Given the description of an element on the screen output the (x, y) to click on. 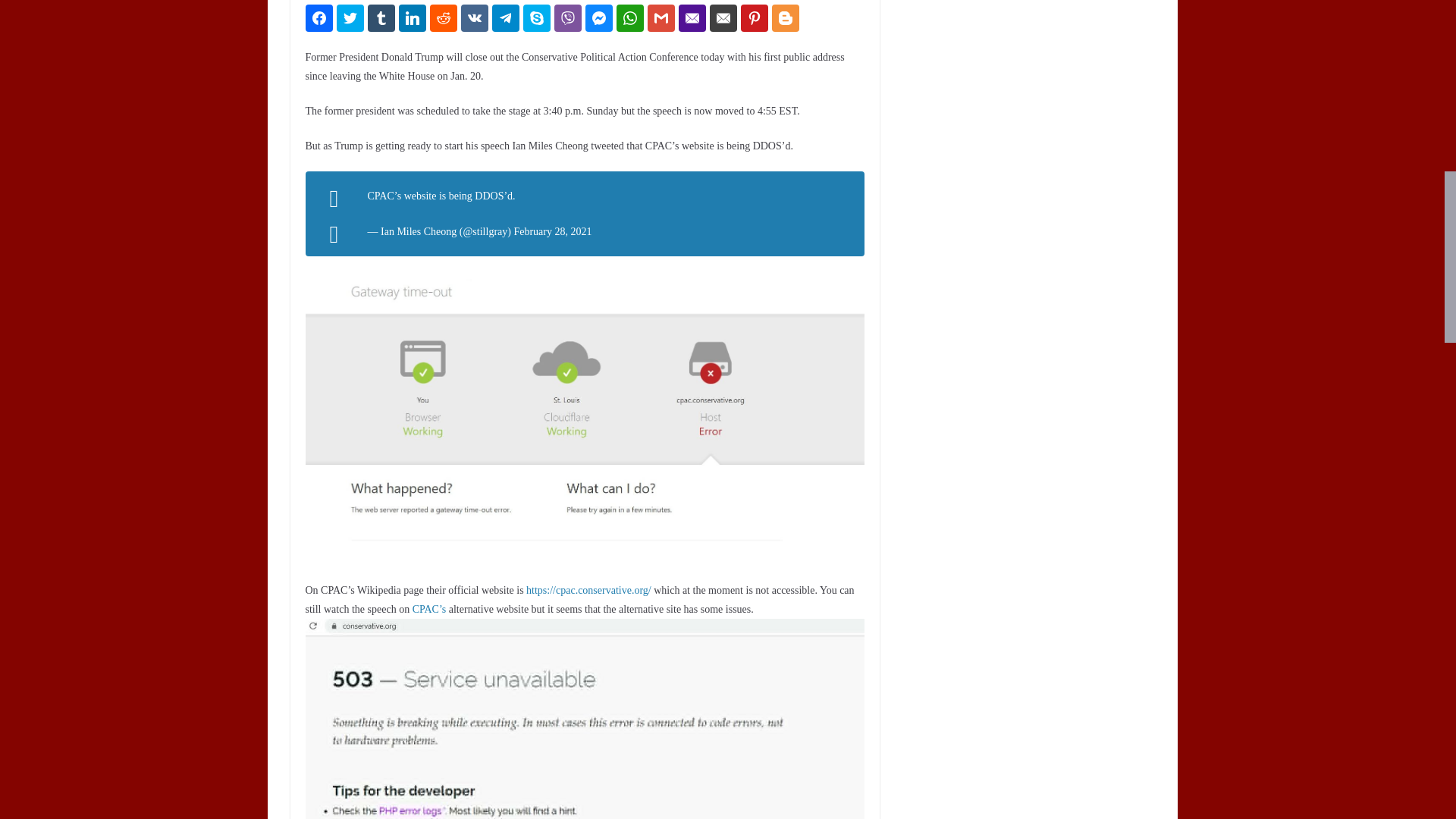
Share on VKontakte (474, 17)
Share on Twitter (350, 17)
Share on Facebook (317, 17)
Share on LinkedIn (412, 17)
Share on Reddit (443, 17)
Share on Tumblr (380, 17)
